Given the description of an element on the screen output the (x, y) to click on. 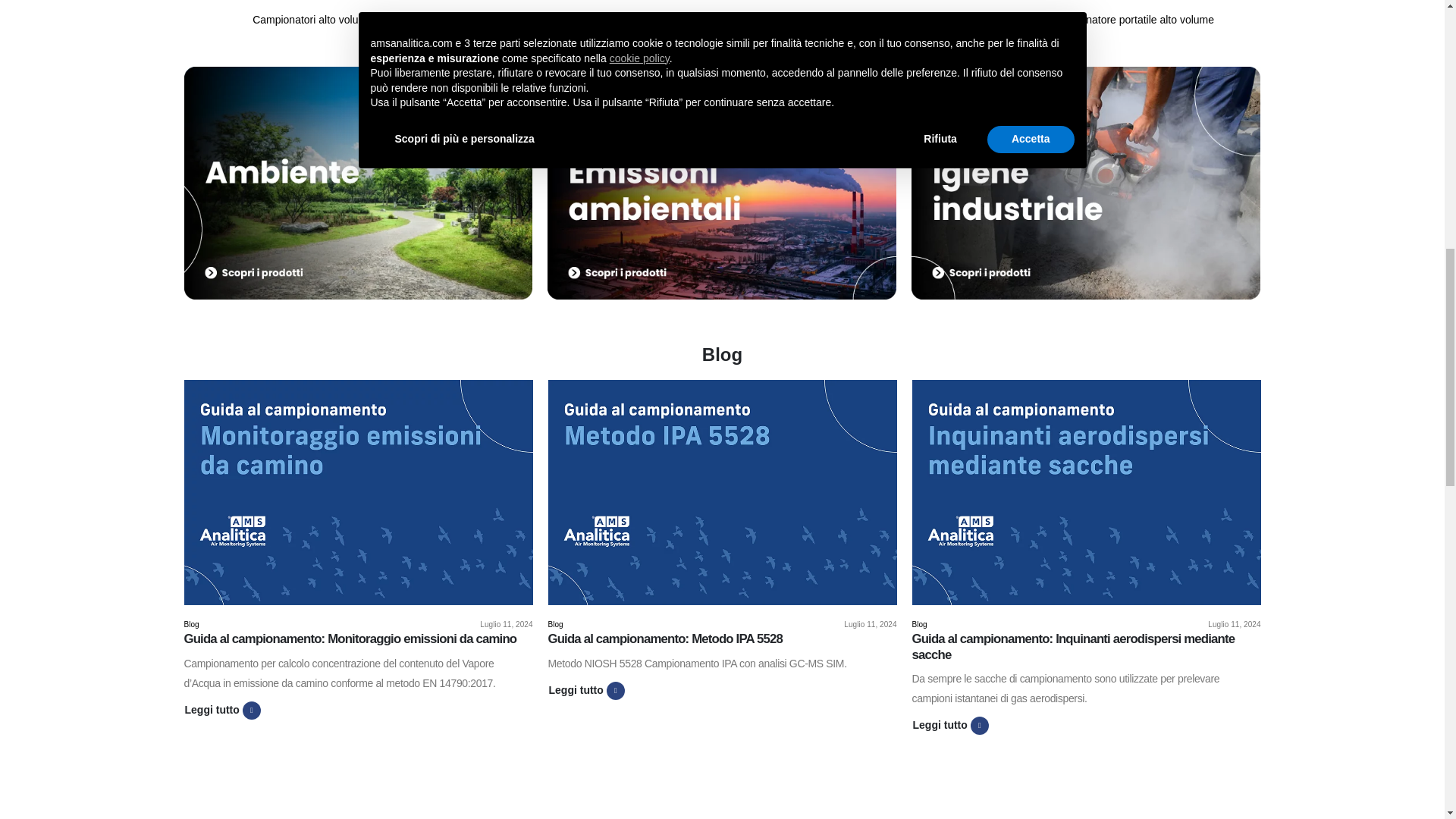
igiene industriale (1085, 182)
AirCube COM2-Iso Touch (858, 1)
AirCube Puf HVS Touch (1130, 1)
Banner ams2 (721, 182)
Banner ams (357, 182)
AirFlow HVS Touch (311, 1)
AirCube He-Iso Touch (585, 1)
